Given the description of an element on the screen output the (x, y) to click on. 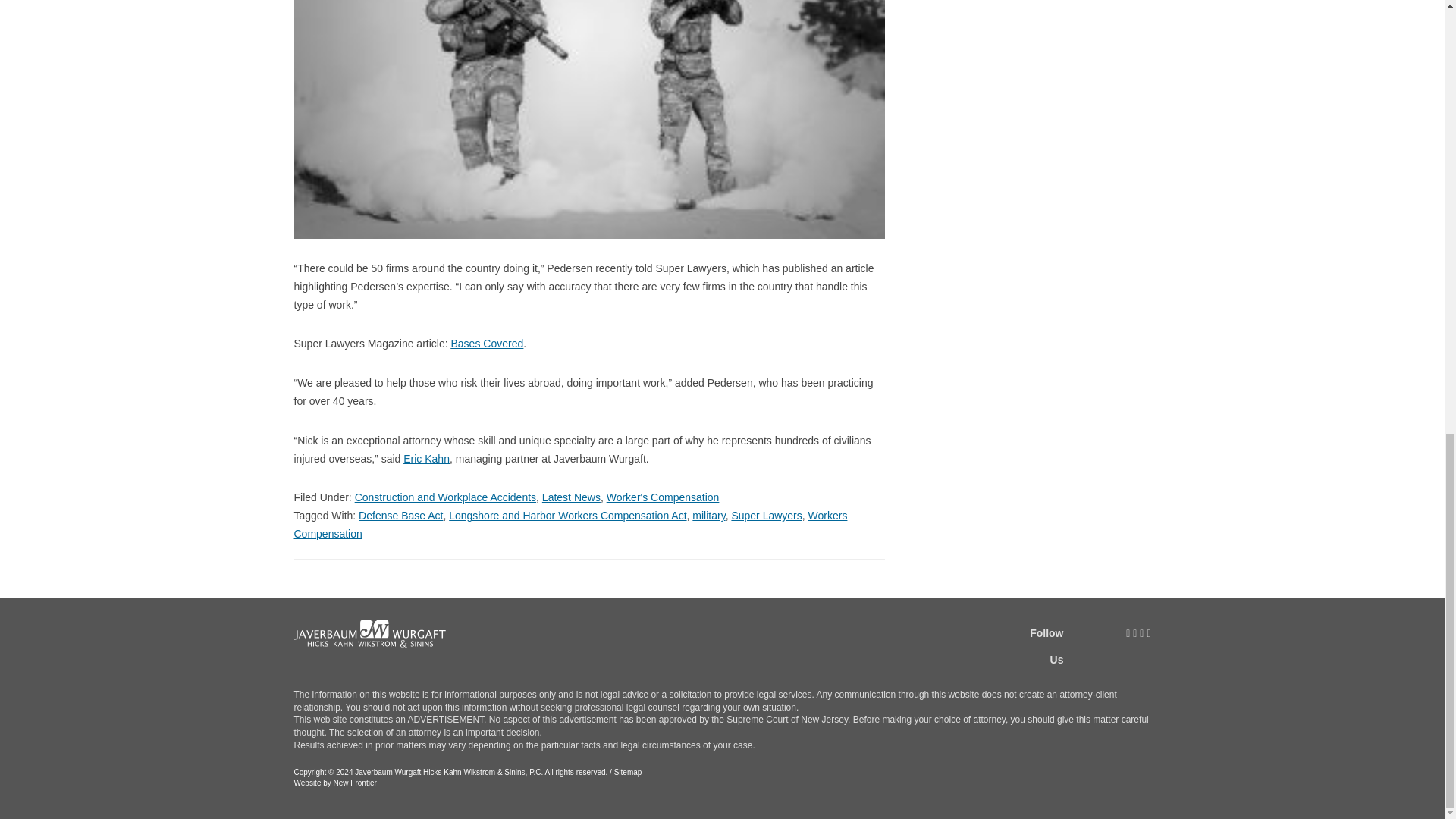
Latest News (570, 497)
Defense Base Act (400, 515)
Longshore and Harbor Workers Compensation Act (566, 515)
military (709, 515)
Construction and Workplace Accidents (445, 497)
Super Lawyers (766, 515)
Worker's Compensation (663, 497)
Eric Kahn (426, 458)
Workers Compensation (570, 524)
